Given the description of an element on the screen output the (x, y) to click on. 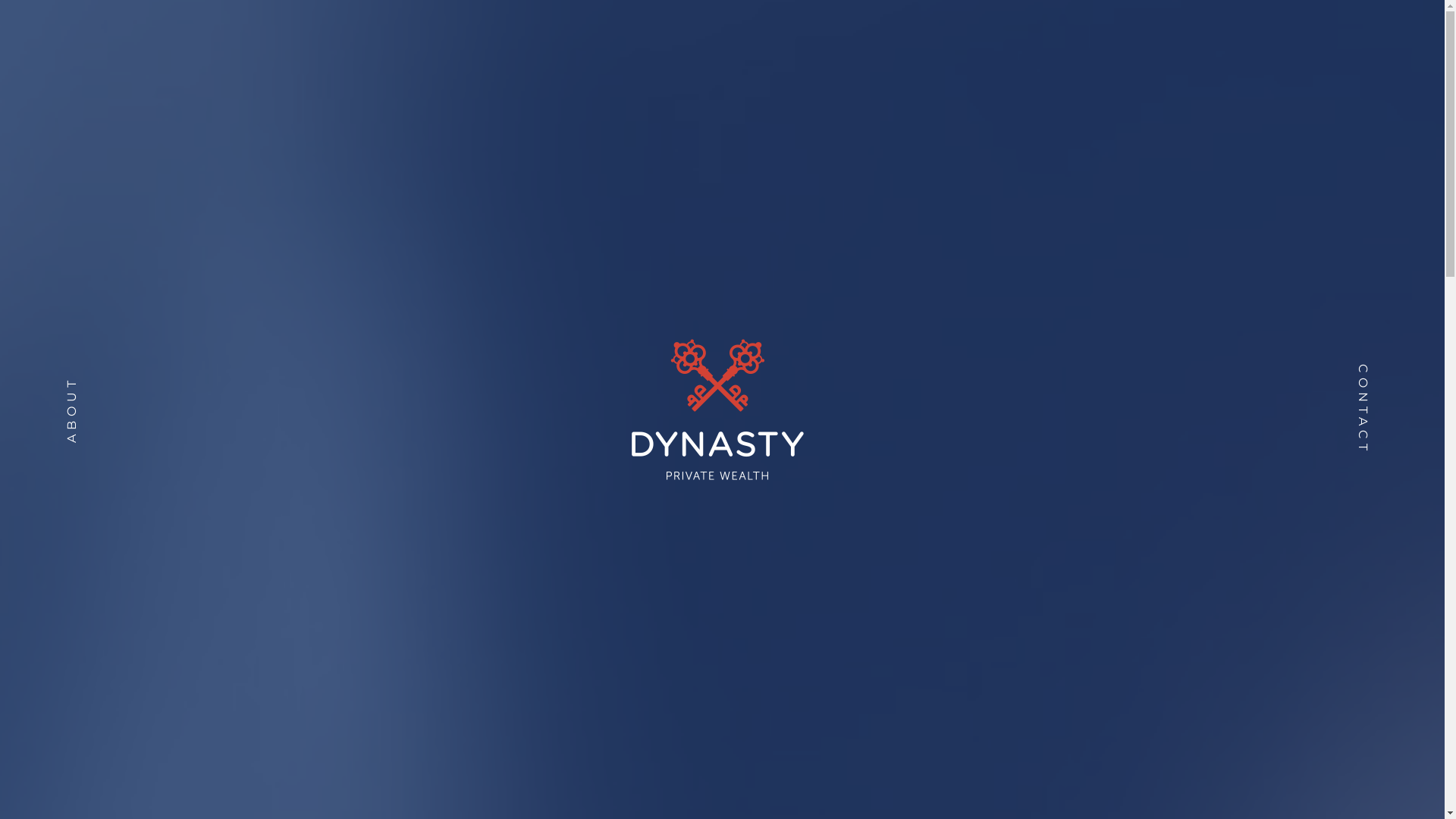
ABOUT Element type: text (108, 372)
